Given the description of an element on the screen output the (x, y) to click on. 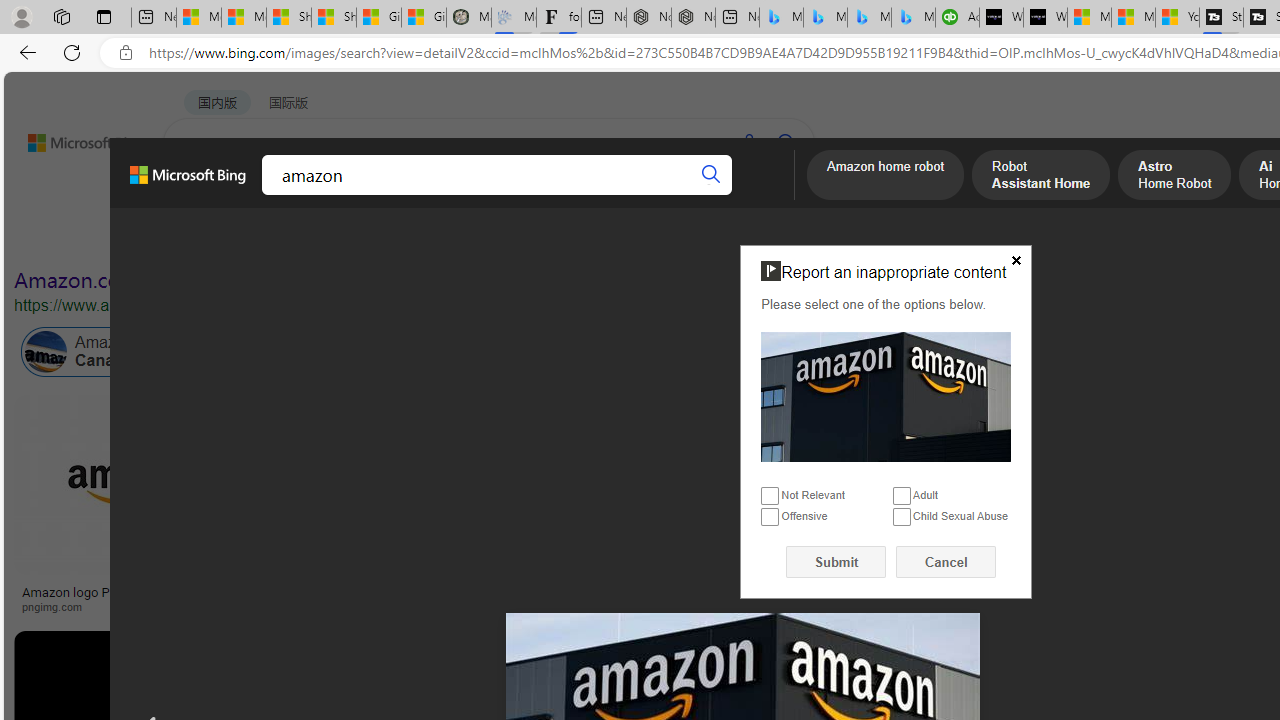
VIDEOS (458, 195)
aiophotoz.com (941, 605)
mytotalretail.com (396, 606)
Amazon Kids (464, 351)
People (520, 237)
usatoday.com (587, 605)
License (665, 237)
Report an inappropriate content (886, 396)
Amazon Prime Online (241, 351)
Search button (712, 174)
